Given the description of an element on the screen output the (x, y) to click on. 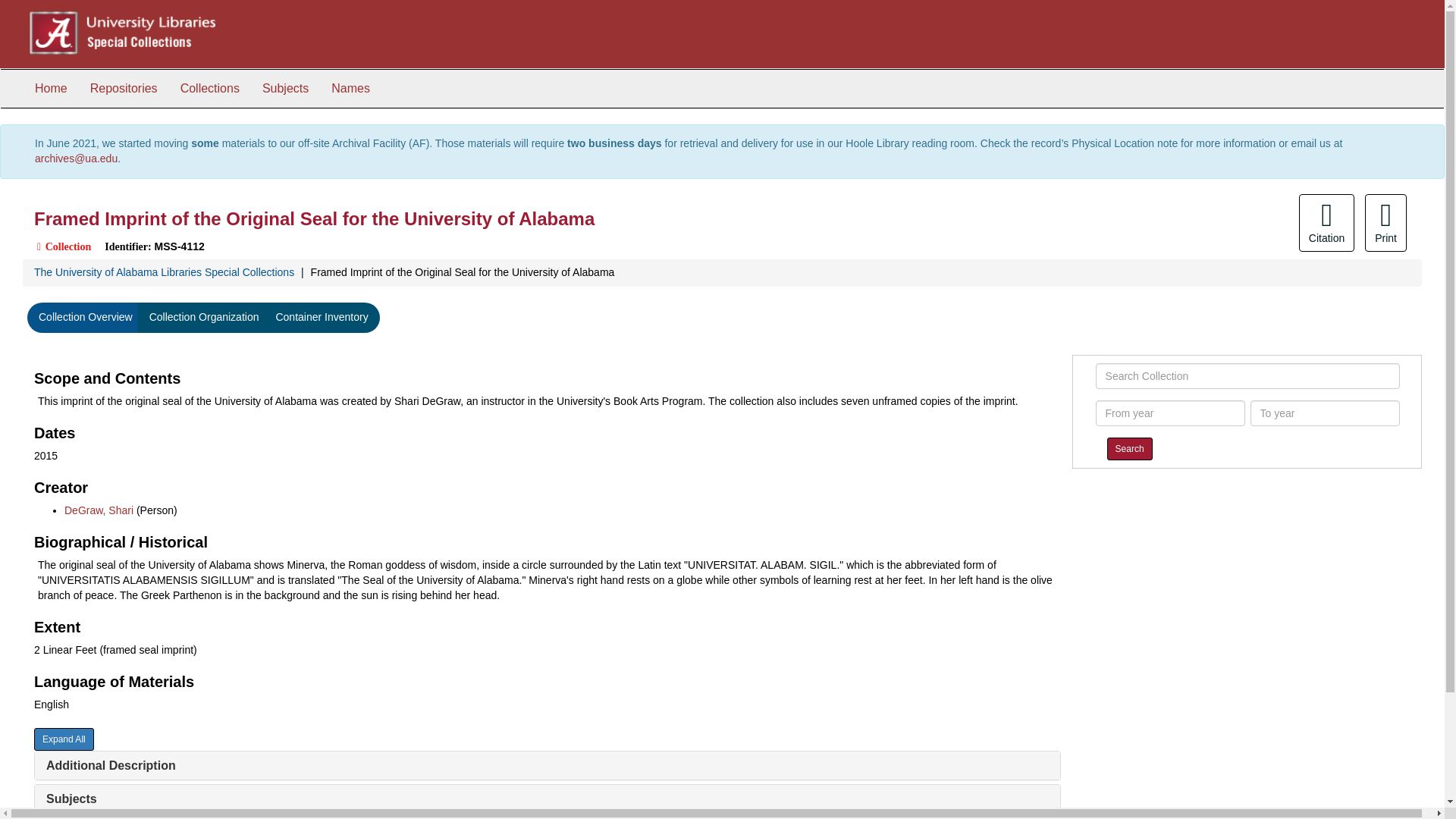
Search (1129, 448)
DeGraw, Shari (98, 510)
Page Actions (1130, 222)
Names (350, 88)
Container Inventory (320, 317)
Search (1129, 448)
Collection Organization (204, 317)
Subjects (71, 798)
Subjects (285, 88)
Collections (209, 88)
